Given the description of an element on the screen output the (x, y) to click on. 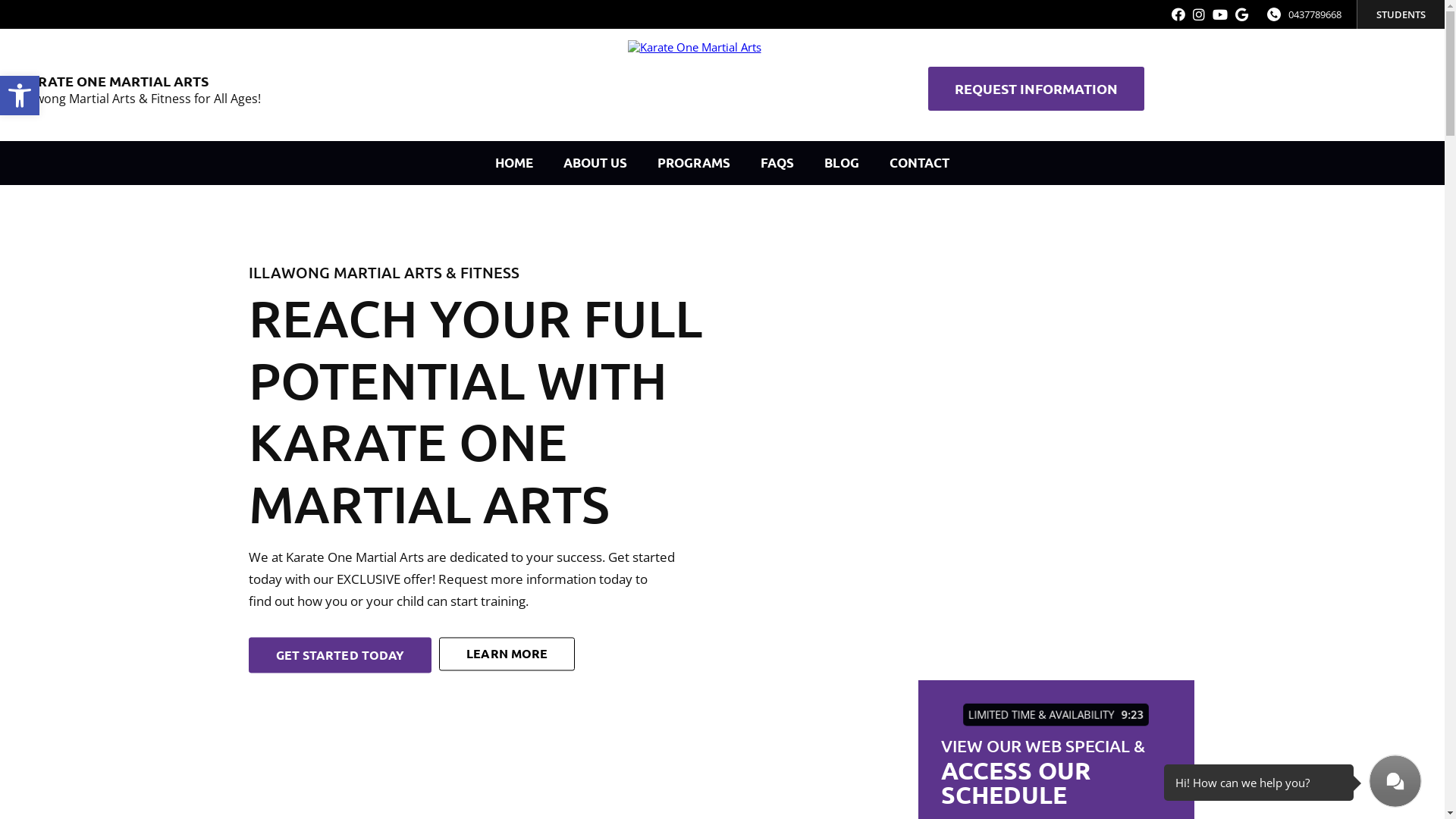
PROGRAMS Element type: text (693, 163)
STUDENTS Element type: text (1400, 14)
FAQS Element type: text (777, 163)
GET STARTED TODAY Element type: text (340, 655)
REQUEST INFORMATION Element type: text (1036, 88)
ABOUT US Element type: text (595, 163)
HOME Element type: text (514, 163)
0437789668 Element type: text (1314, 14)
Open toolbar
Accessibility Tools Element type: text (19, 95)
BLOG Element type: text (841, 163)
CONTACT Element type: text (919, 163)
LEARN MORE Element type: text (506, 654)
